Given the description of an element on the screen output the (x, y) to click on. 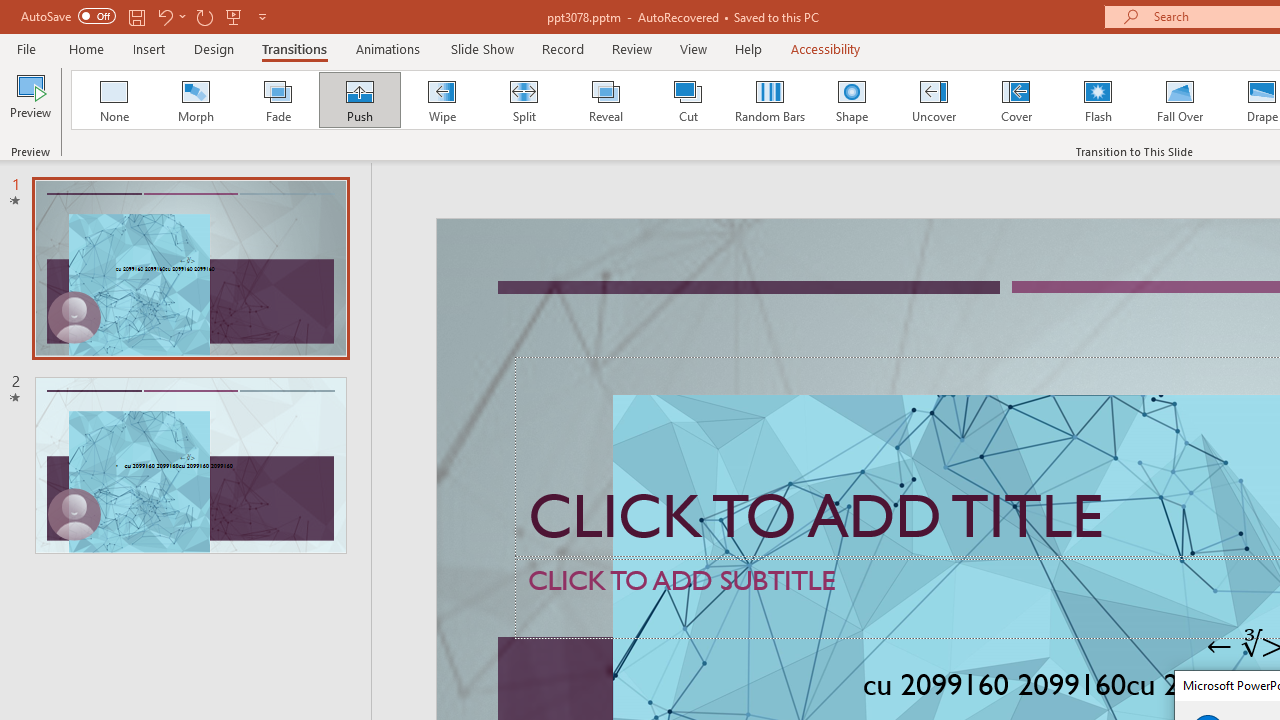
Reveal (605, 100)
Morph (195, 100)
Fade (277, 100)
None (113, 100)
Uncover (934, 100)
